Given the description of an element on the screen output the (x, y) to click on. 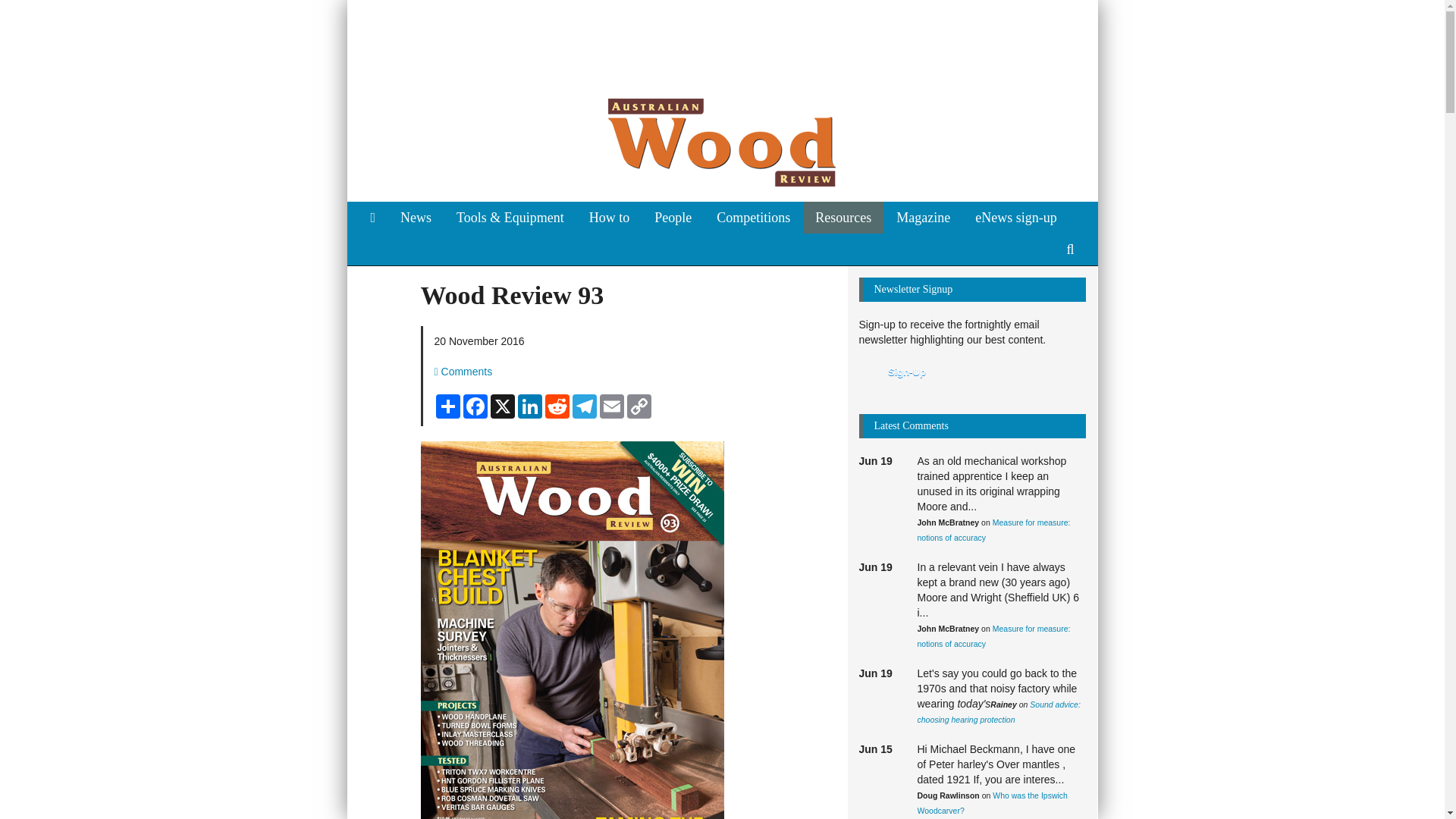
X (501, 405)
eNews sign-up (1015, 217)
Who was the Ipswich Woodcarver? (992, 802)
Facebook (474, 405)
Search (1070, 249)
LinkedIn (529, 405)
Preview (896, 372)
Comments (467, 371)
Magazine (922, 217)
Telegram (583, 405)
People (672, 217)
How to (609, 217)
Measure for measure: notions of accuracy (993, 529)
Copy Link (638, 405)
News (416, 217)
